Given the description of an element on the screen output the (x, y) to click on. 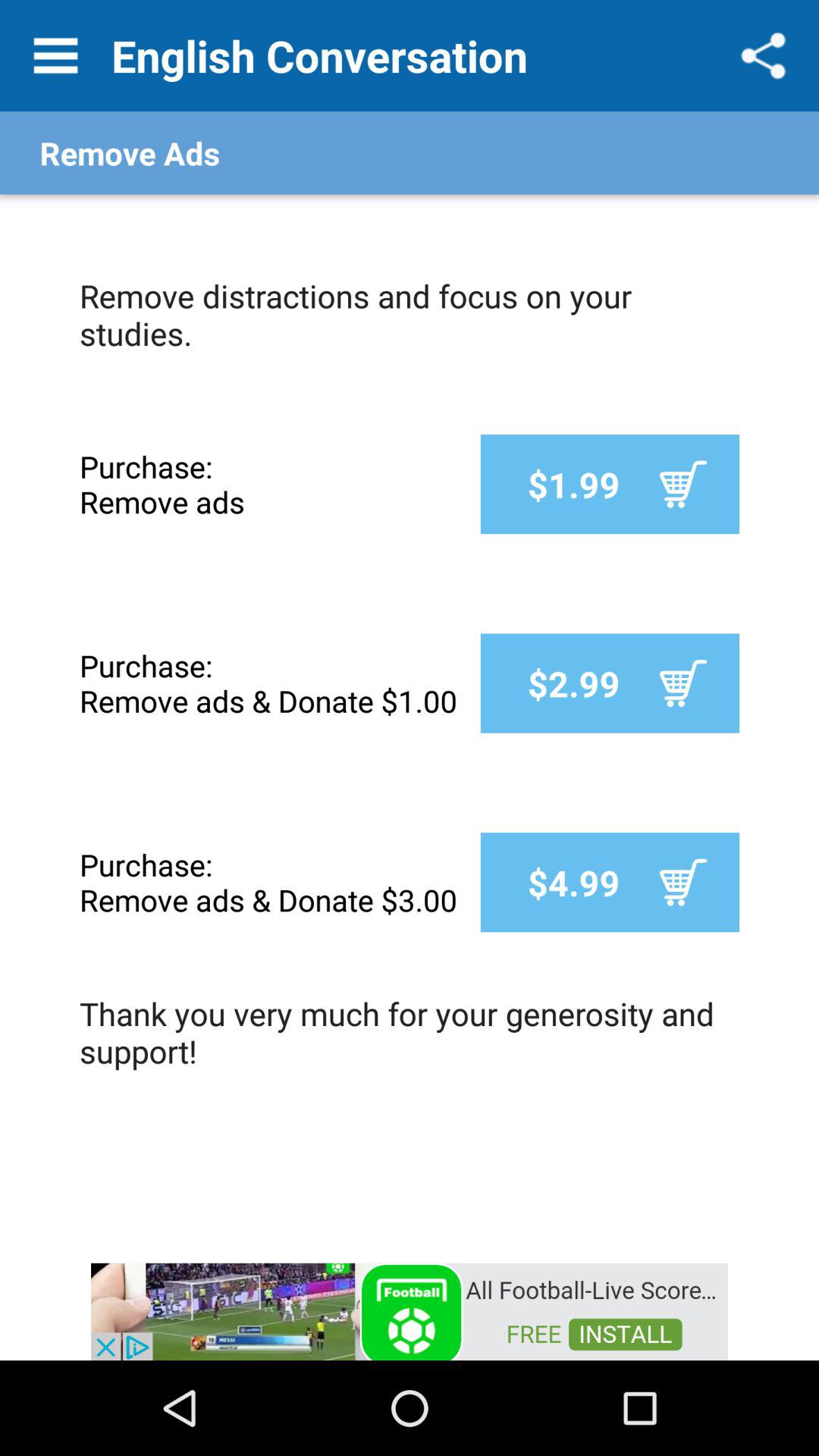
click on this advertisement (409, 1310)
